Given the description of an element on the screen output the (x, y) to click on. 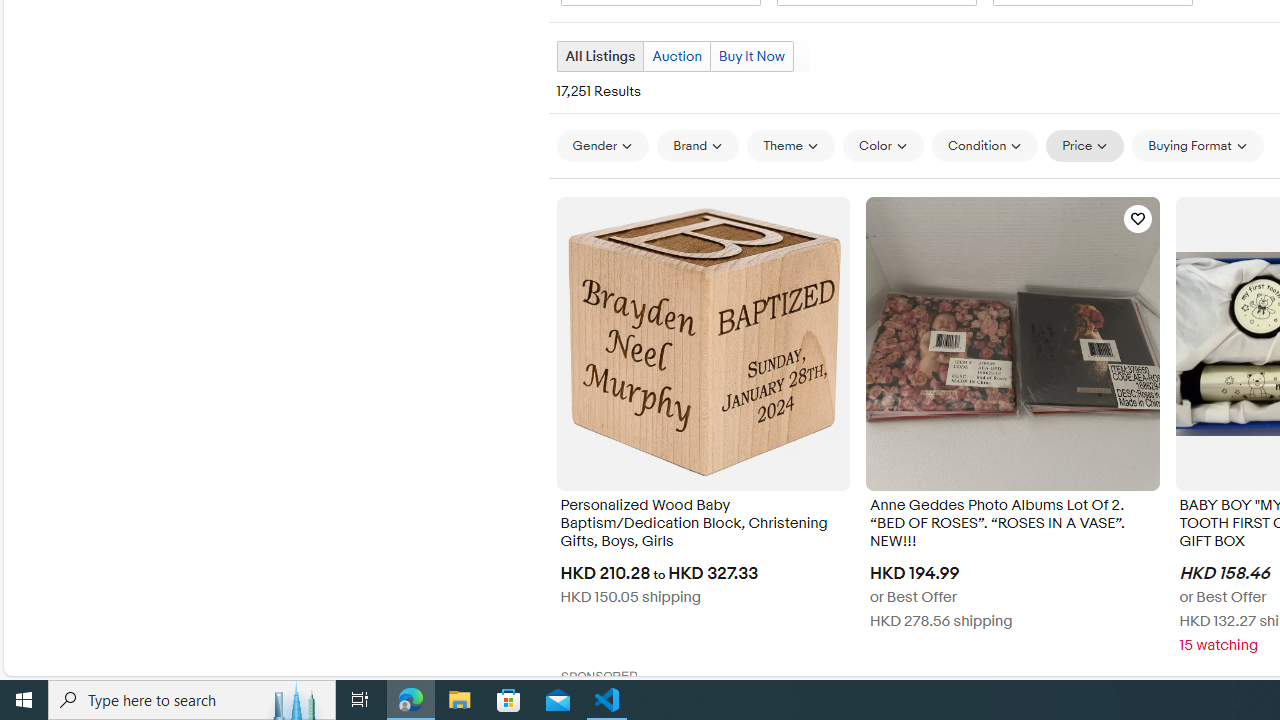
Condition (984, 145)
Auction (676, 56)
Color (883, 145)
Brand (697, 146)
Price (1085, 145)
Gender (602, 146)
Buy It Now (751, 56)
Price (1085, 146)
All Listings (599, 56)
Buy It Now (751, 56)
Gender (602, 145)
Theme (791, 145)
